Given the description of an element on the screen output the (x, y) to click on. 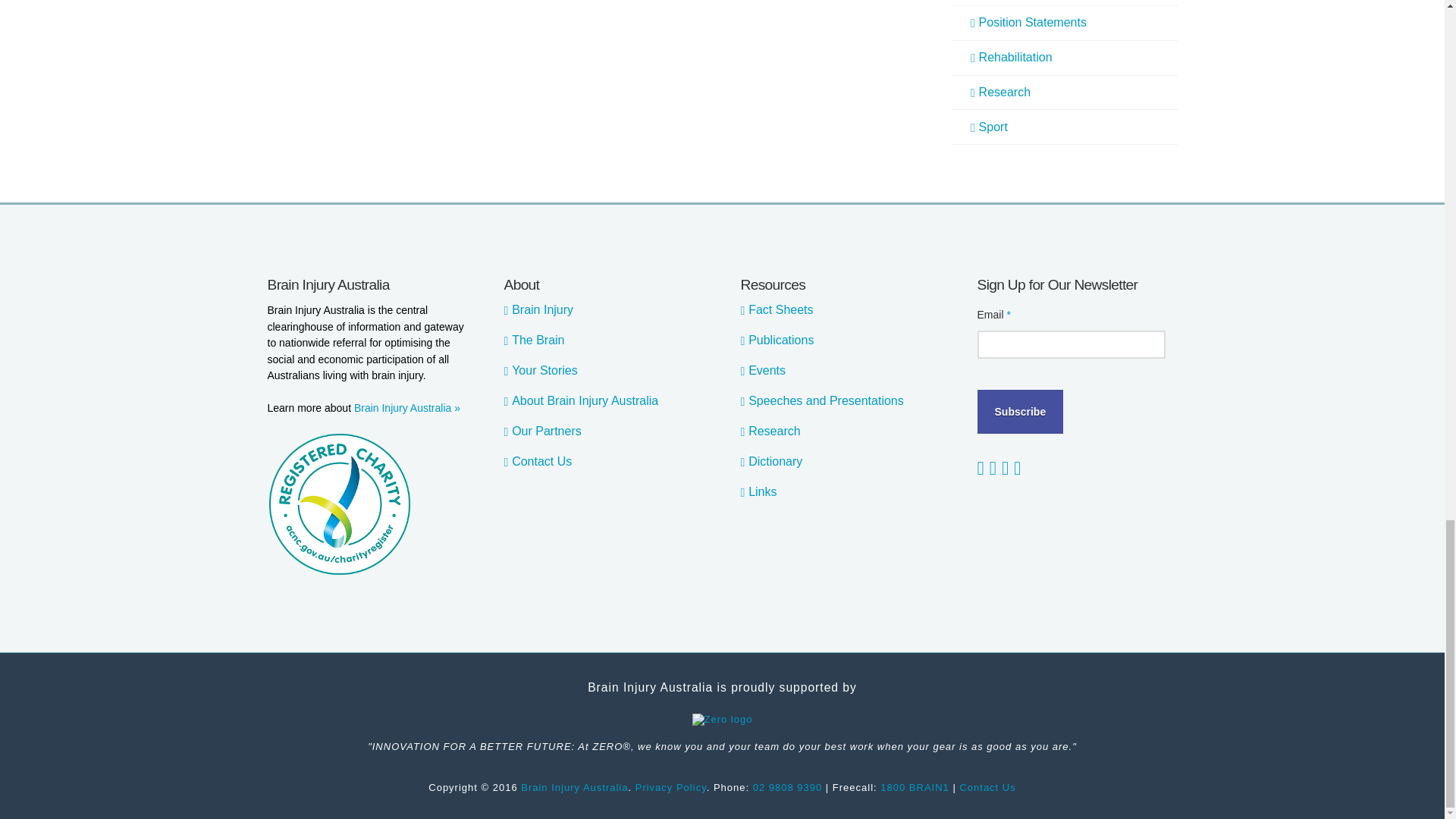
ACNC Registered Chatiry (338, 504)
About Us (406, 408)
Brain Injury Australia website (574, 787)
Subscribe (1019, 411)
Privacy Policy (670, 787)
